Given the description of an element on the screen output the (x, y) to click on. 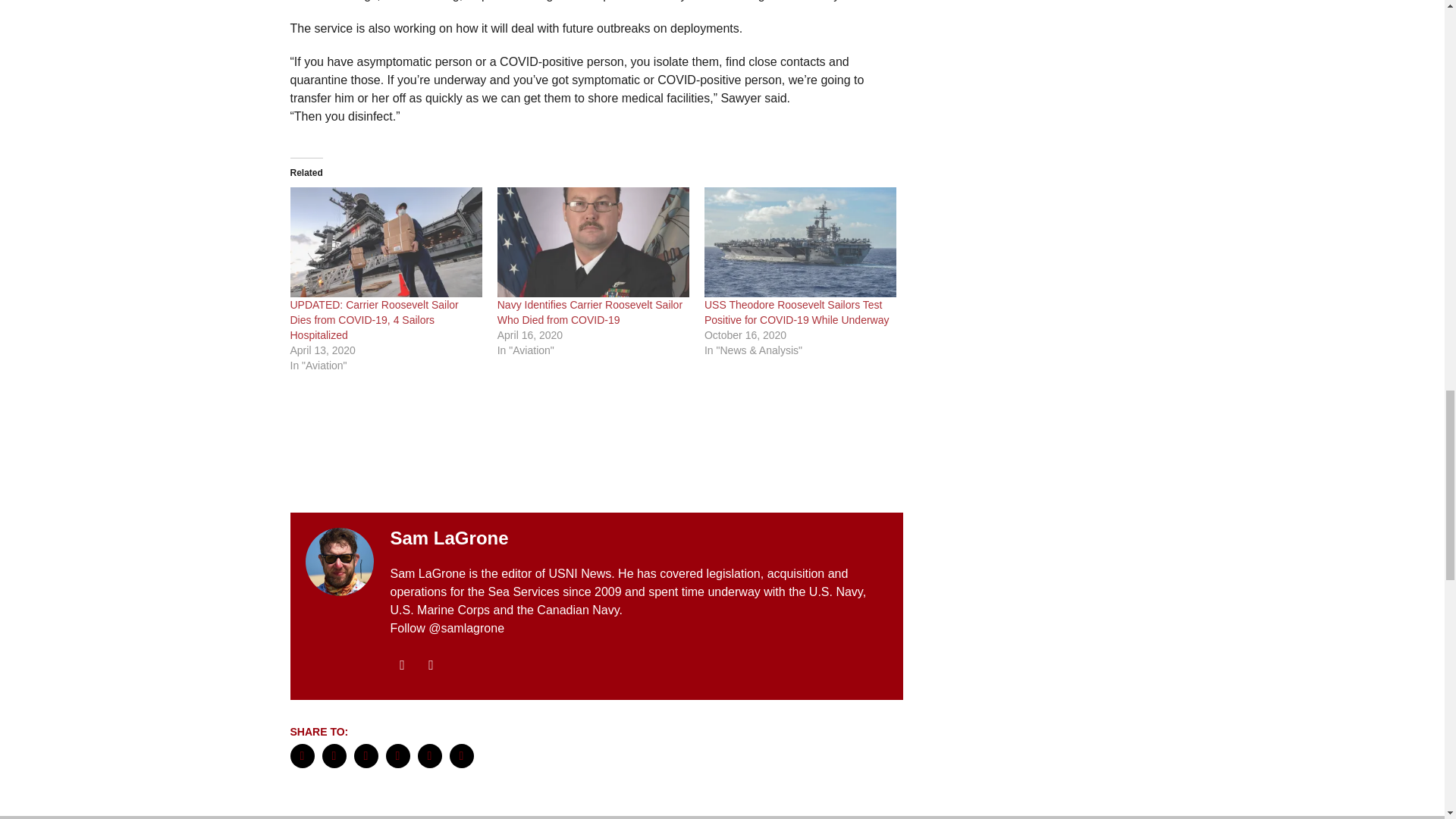
3rd party ad content (596, 446)
